Given the description of an element on the screen output the (x, y) to click on. 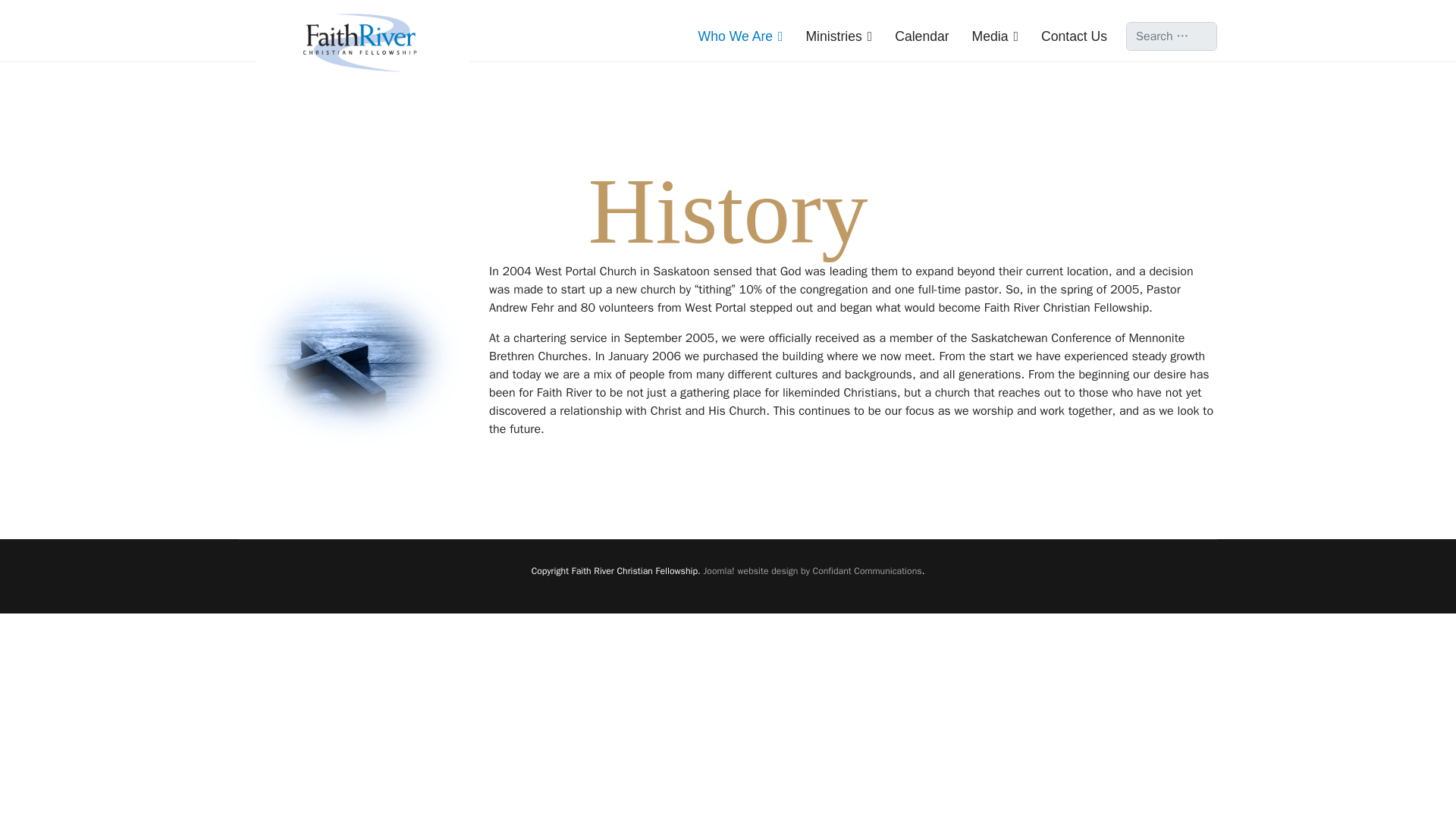
Joomla! website design by Confidant Communications (812, 571)
Who We Are (740, 35)
Ministries (838, 35)
Contact Us (1067, 35)
Calendar (921, 35)
Christian Joomla web developer in Saskatoon, Saskatchewan (812, 571)
